Given the description of an element on the screen output the (x, y) to click on. 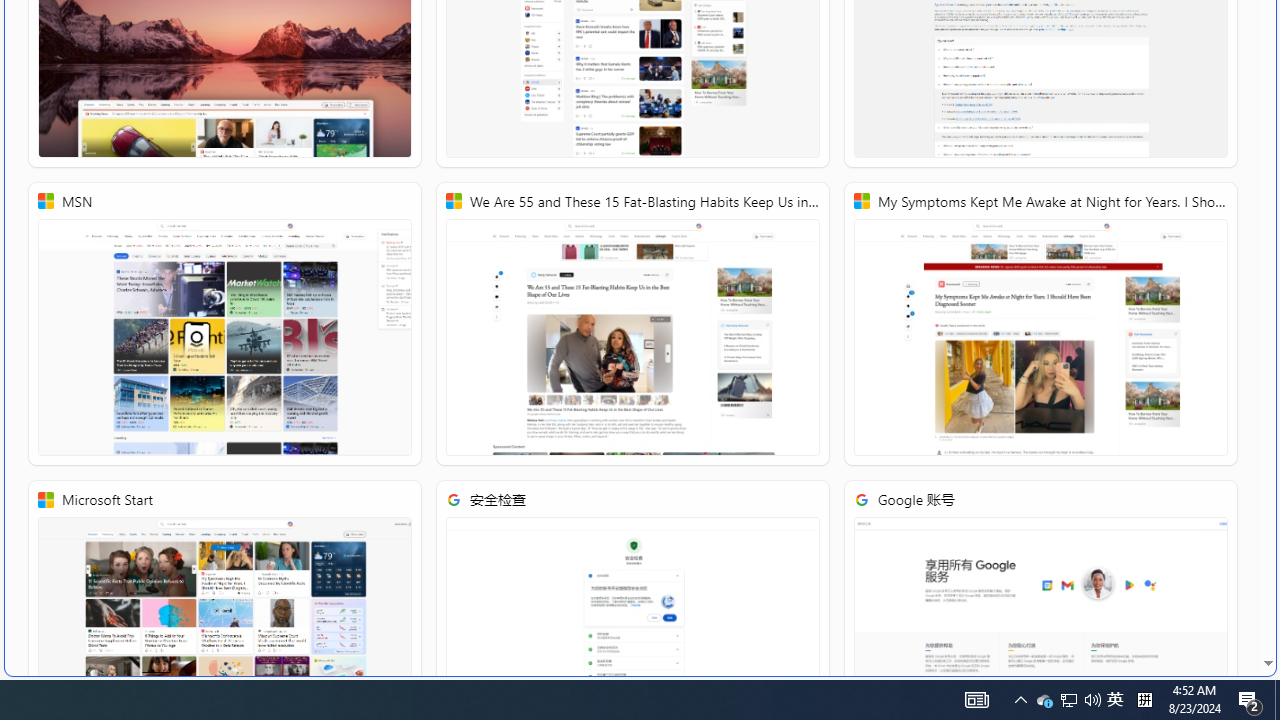
MSN (225, 323)
